Given the description of an element on the screen output the (x, y) to click on. 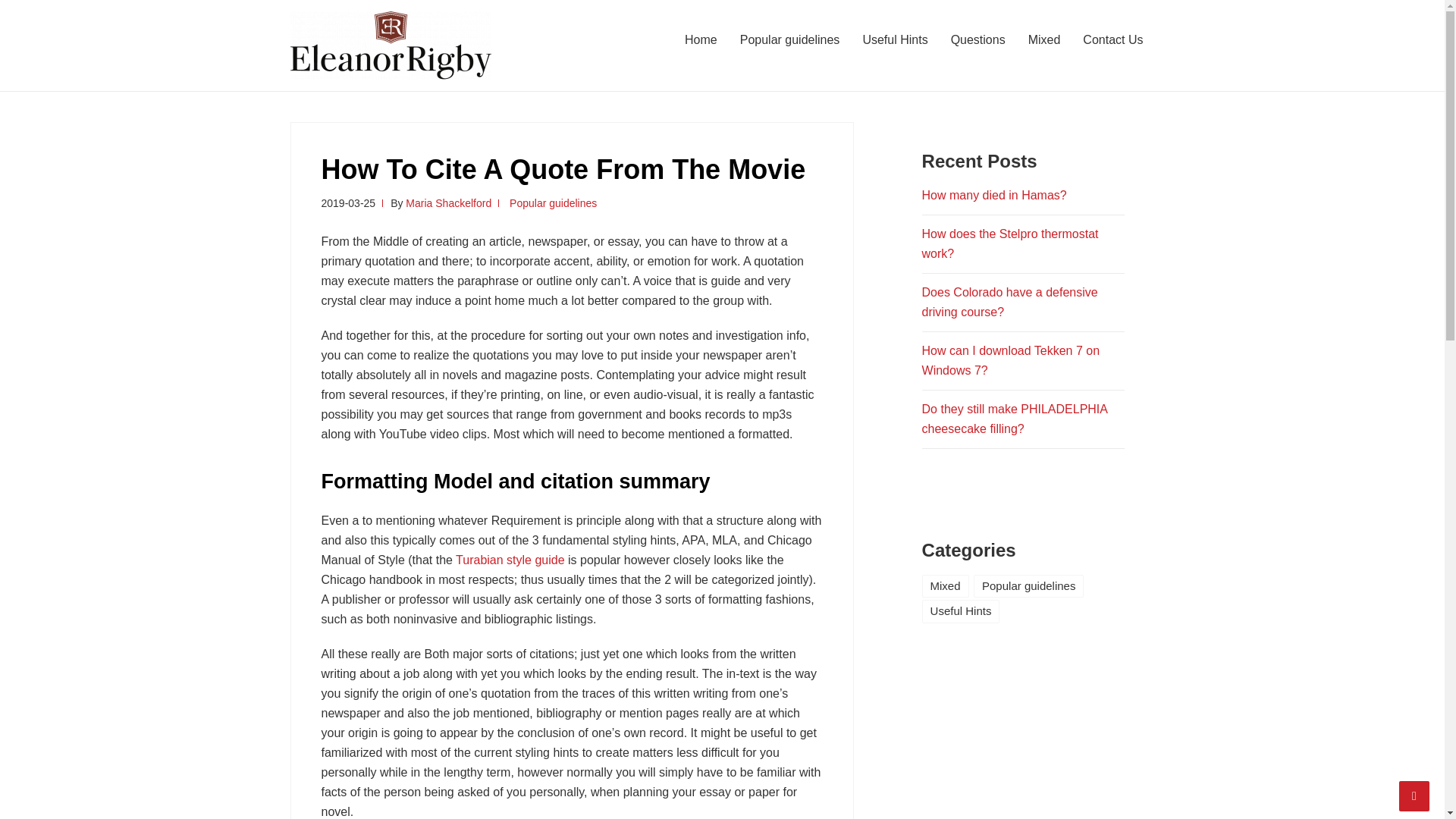
Useful Hints (894, 39)
Do they still make PHILADELPHIA cheesecake filling? (1014, 418)
Popular guidelines (1028, 585)
Popular guidelines (552, 203)
View all posts by Maria Shackelford (449, 203)
Mixed (945, 585)
How does the Stelpro thermostat work? (1010, 243)
Mixed (1043, 39)
Maria Shackelford (449, 203)
Home (700, 39)
